Given the description of an element on the screen output the (x, y) to click on. 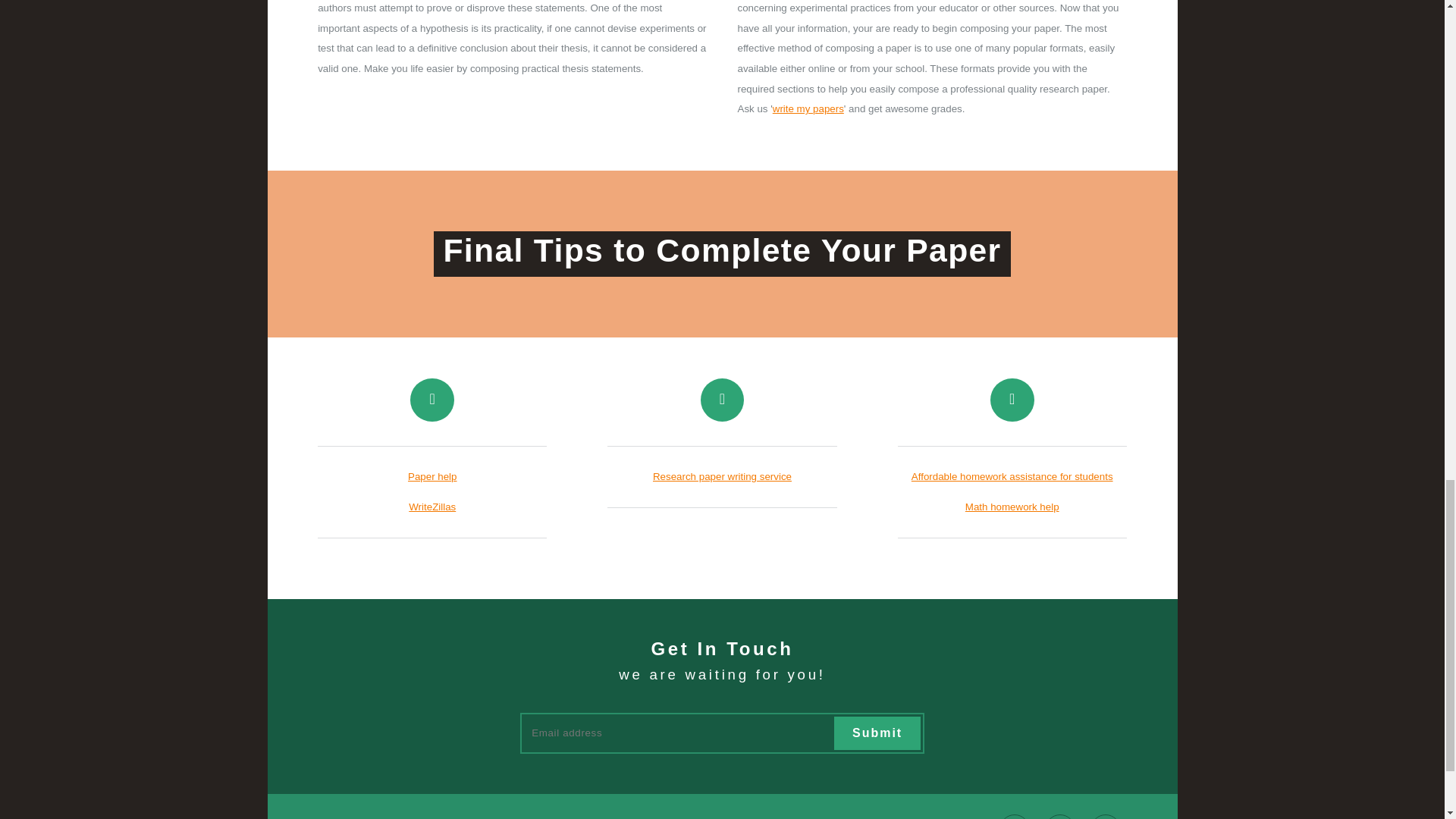
Math homework help (1012, 506)
Paper help (432, 476)
Research paper writing service (722, 476)
write my papers (808, 108)
Affordable homework assistance for students (1012, 476)
WriteZillas (432, 506)
Submit (877, 733)
